Given the description of an element on the screen output the (x, y) to click on. 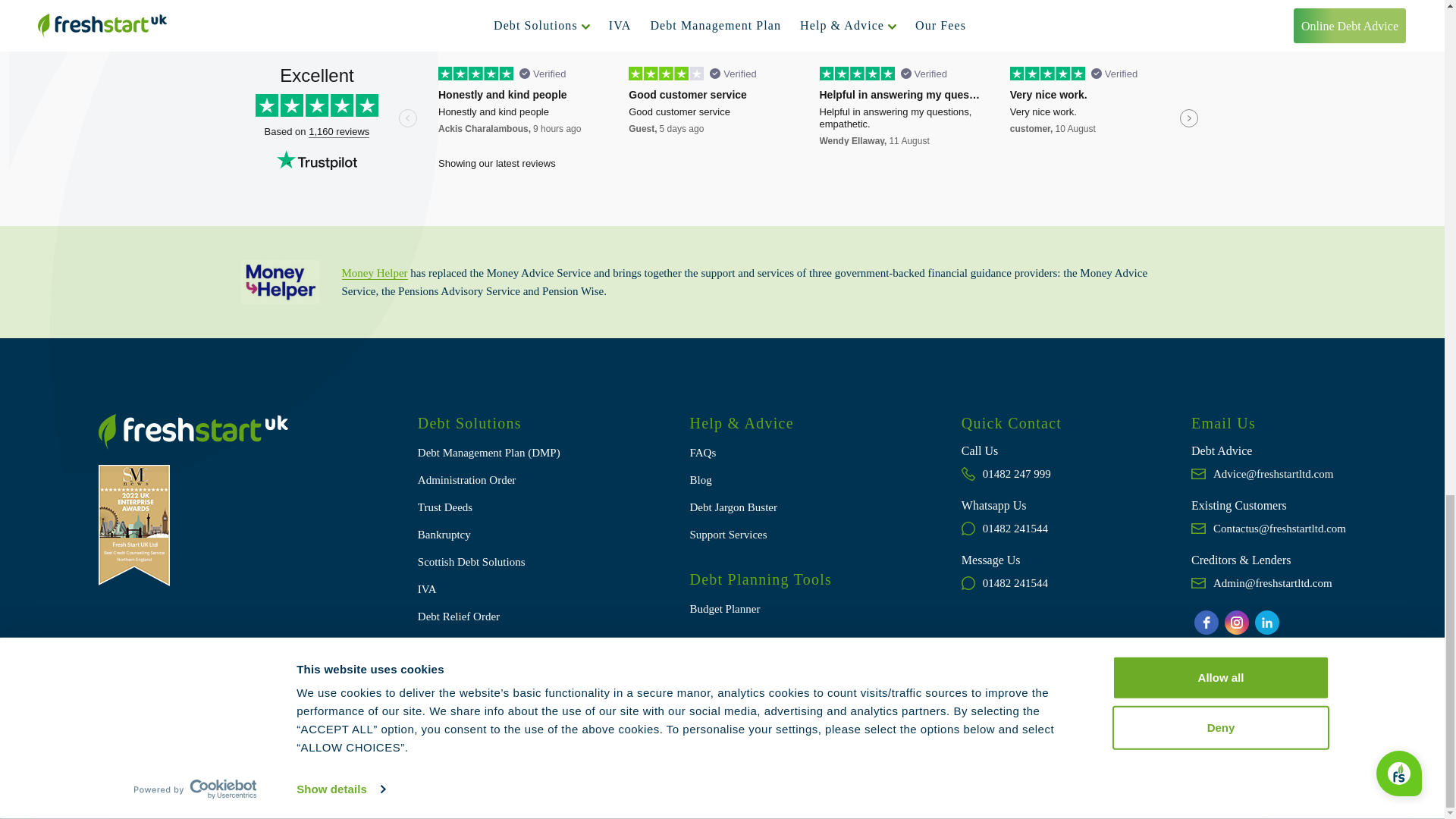
Customer reviews powered by Trustpilot (722, 119)
Facebook (1205, 622)
Instagram (1236, 622)
LinkedIn (1267, 622)
